Given the description of an element on the screen output the (x, y) to click on. 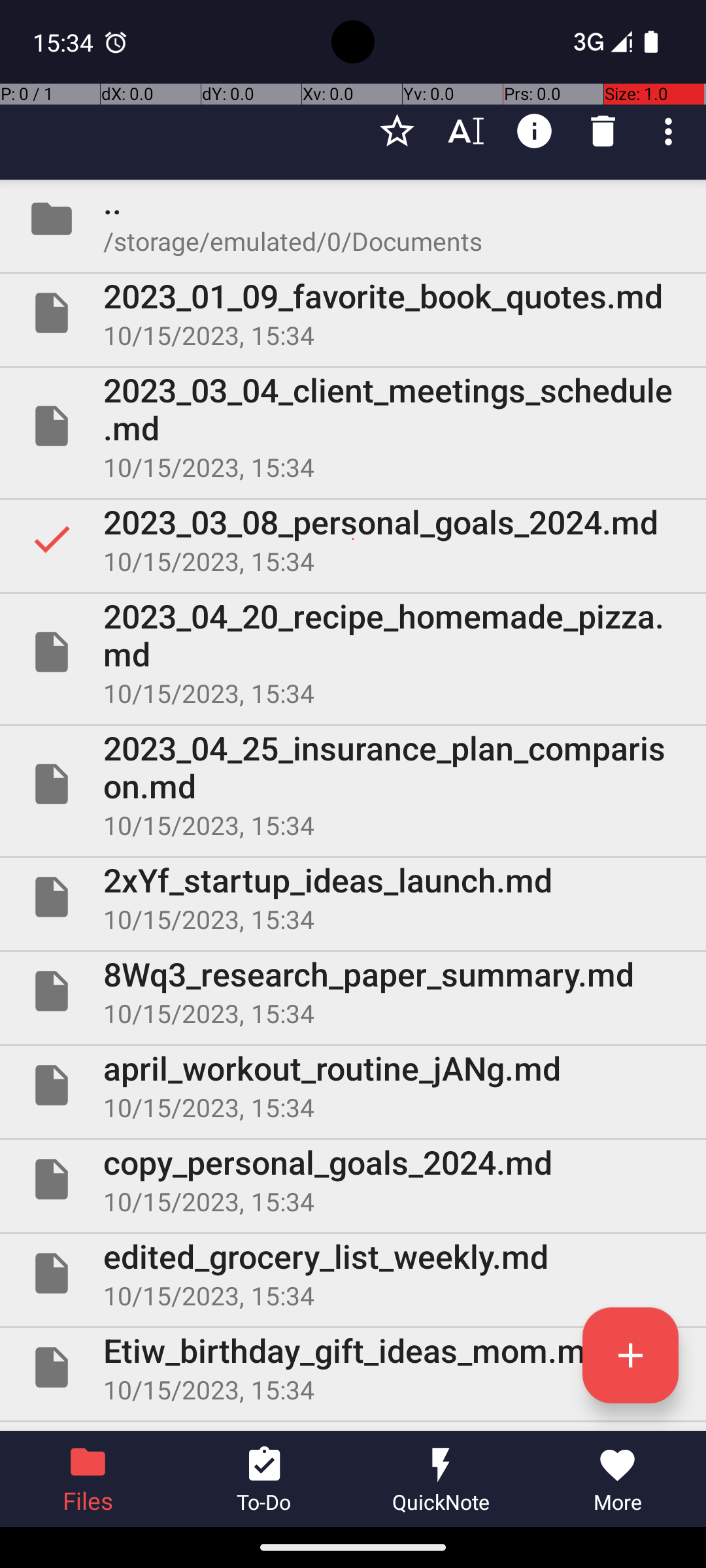
Favourite Element type: android.widget.TextView (396, 131)
File 2023_01_09_favorite_book_quotes.md  Element type: android.widget.LinearLayout (353, 312)
File 2023_03_04_client_meetings_schedule.md  Element type: android.widget.LinearLayout (353, 425)
Selected 2023_03_08_personal_goals_2024.md  Element type: android.widget.LinearLayout (353, 538)
File 2023_04_20_recipe_homemade_pizza.md  Element type: android.widget.LinearLayout (353, 651)
File 2023_04_25_insurance_plan_comparison.md  Element type: android.widget.LinearLayout (353, 783)
File 2xYf_startup_ideas_launch.md  Element type: android.widget.LinearLayout (353, 896)
File 8Wq3_research_paper_summary.md  Element type: android.widget.LinearLayout (353, 990)
File april_workout_routine_jANg.md  Element type: android.widget.LinearLayout (353, 1084)
File copy_personal_goals_2024.md  Element type: android.widget.LinearLayout (353, 1179)
File edited_grocery_list_weekly.md  Element type: android.widget.LinearLayout (353, 1273)
File Etiw_birthday_gift_ideas_mom.md  Element type: android.widget.LinearLayout (353, 1367)
File J7k3_research_paper_summary.md  Element type: android.widget.LinearLayout (353, 1426)
